Given the description of an element on the screen output the (x, y) to click on. 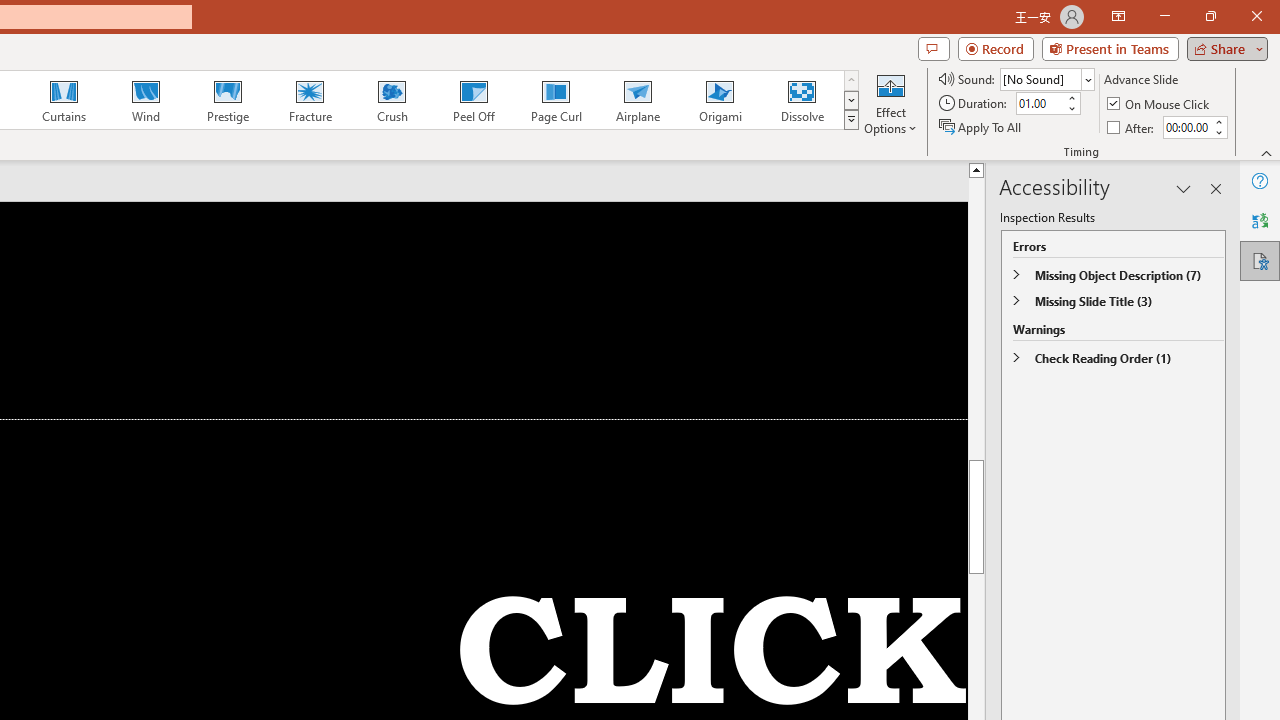
Page up (1230, 318)
Effect Options (890, 102)
On Mouse Click (1159, 103)
More (1218, 121)
Origami (719, 100)
Dissolve (802, 100)
